Given the description of an element on the screen output the (x, y) to click on. 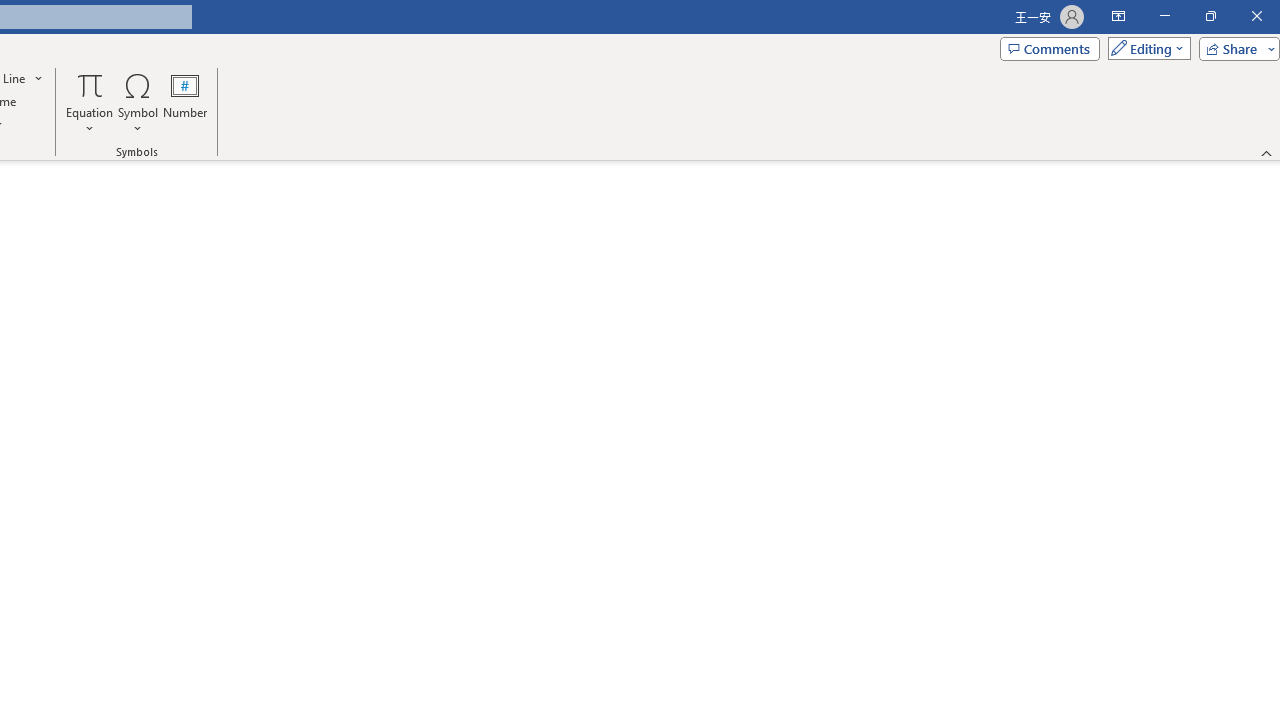
Equation (90, 102)
Number... (185, 102)
Equation (90, 84)
Symbol (138, 102)
